Given the description of an element on the screen output the (x, y) to click on. 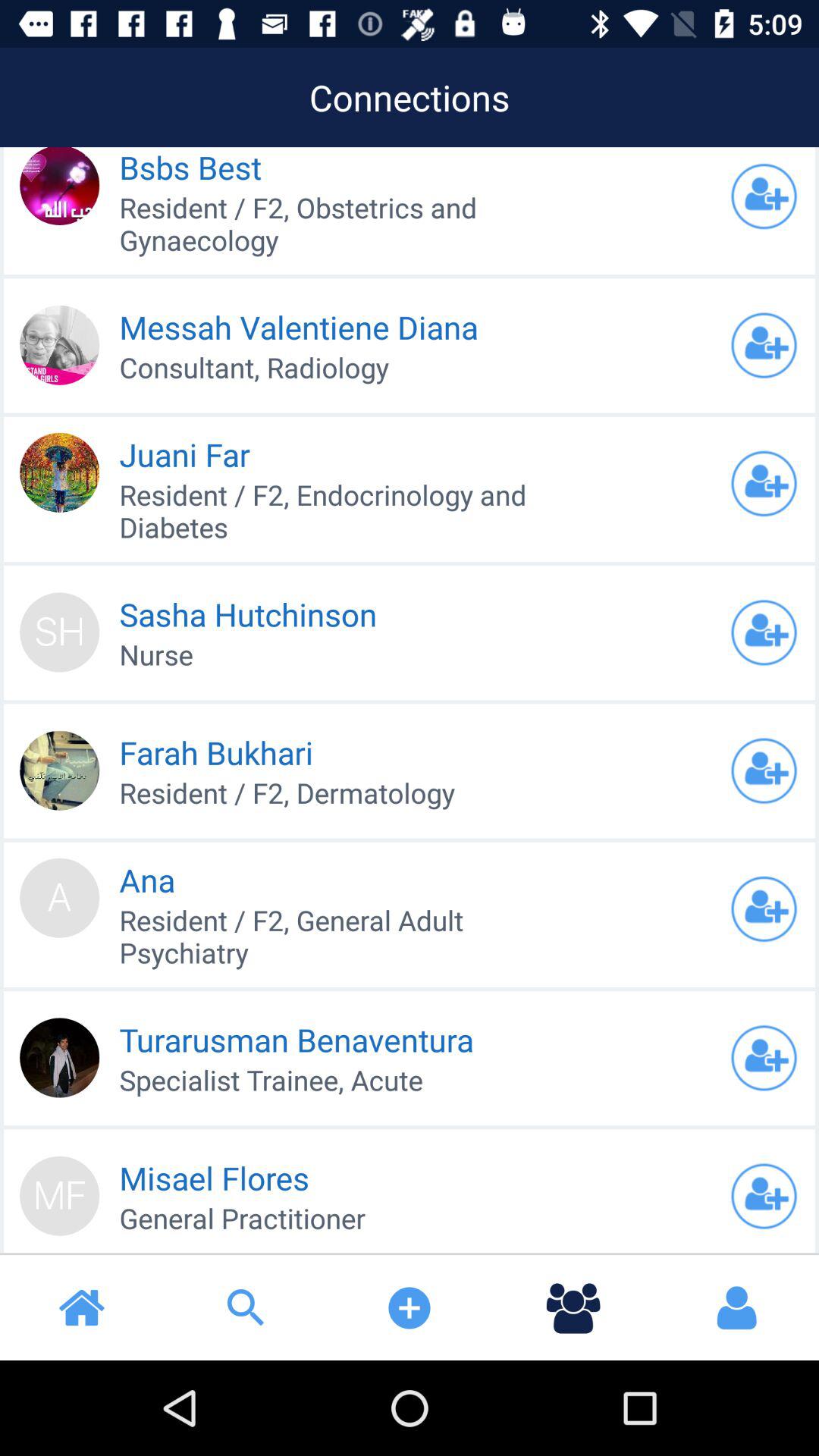
turn on the item below the general practitioner app (81, 1307)
